Given the description of an element on the screen output the (x, y) to click on. 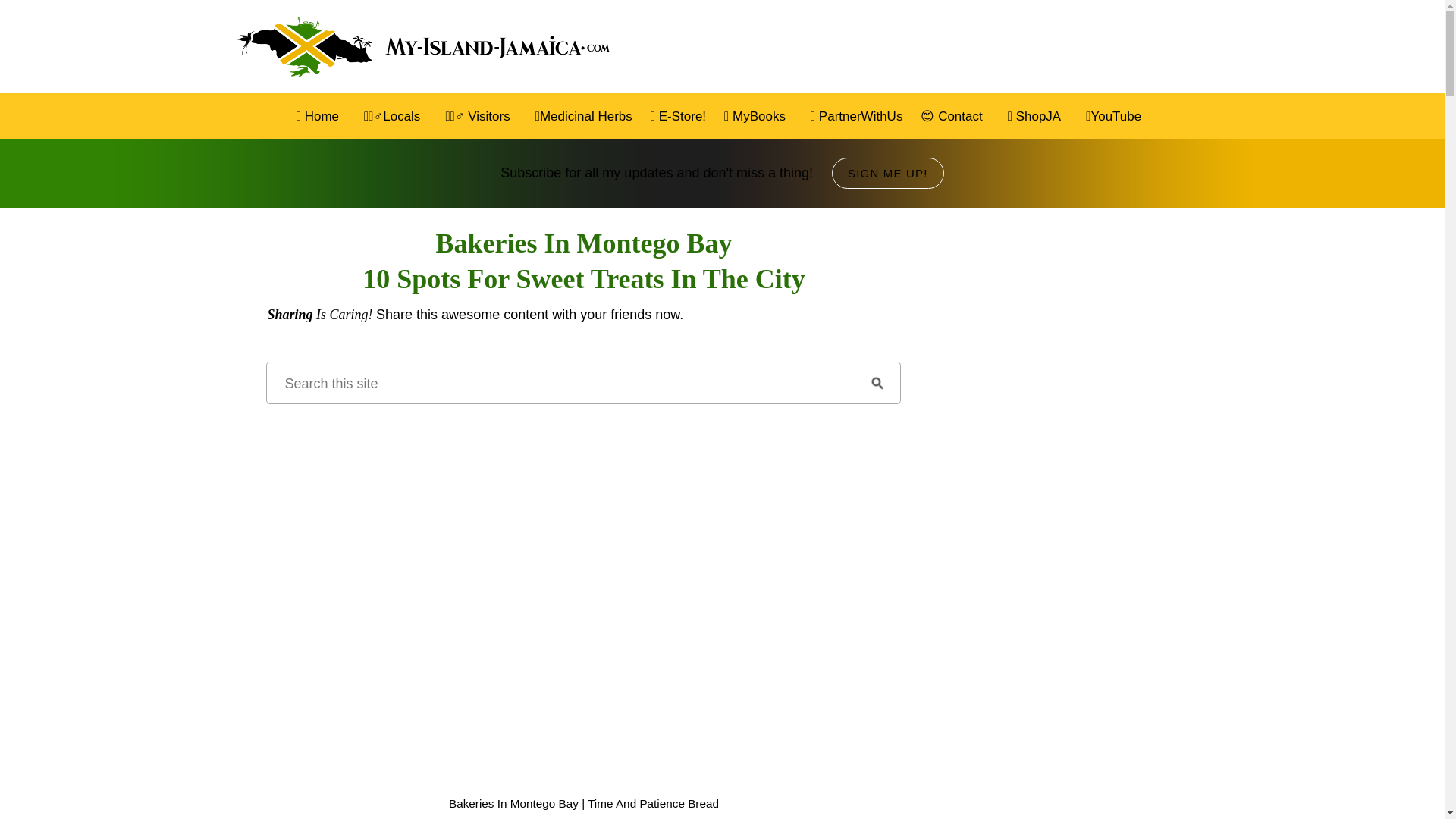
Link To My Island Jamaica YouTube Channel (583, 511)
Search this site (560, 382)
Go (876, 382)
Go to My Island Jamaica YouTube Channel (583, 528)
Search this site (560, 382)
MY WEBSITE (423, 46)
